Given the description of an element on the screen output the (x, y) to click on. 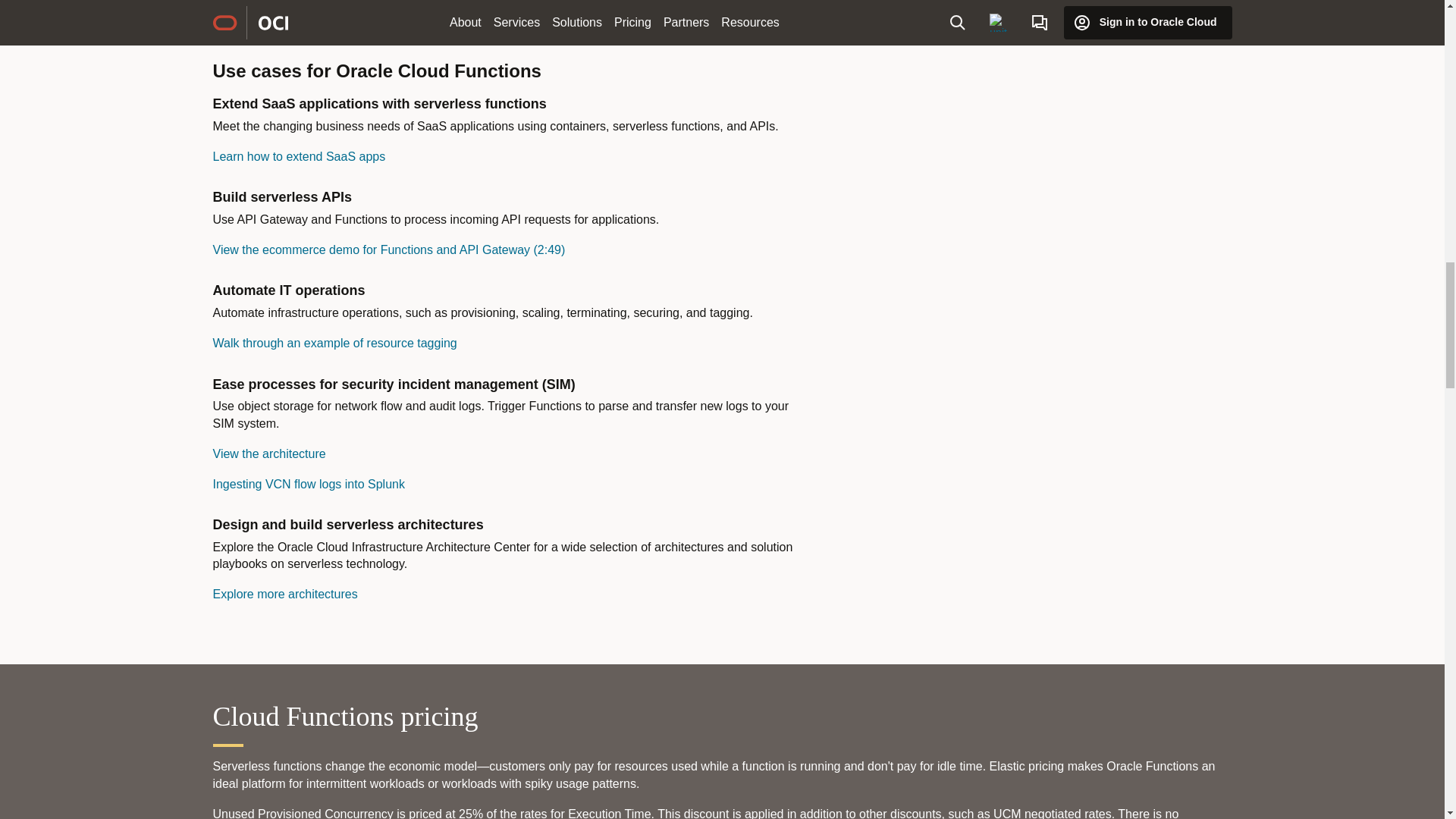
View the architectur (268, 453)
